Given the description of an element on the screen output the (x, y) to click on. 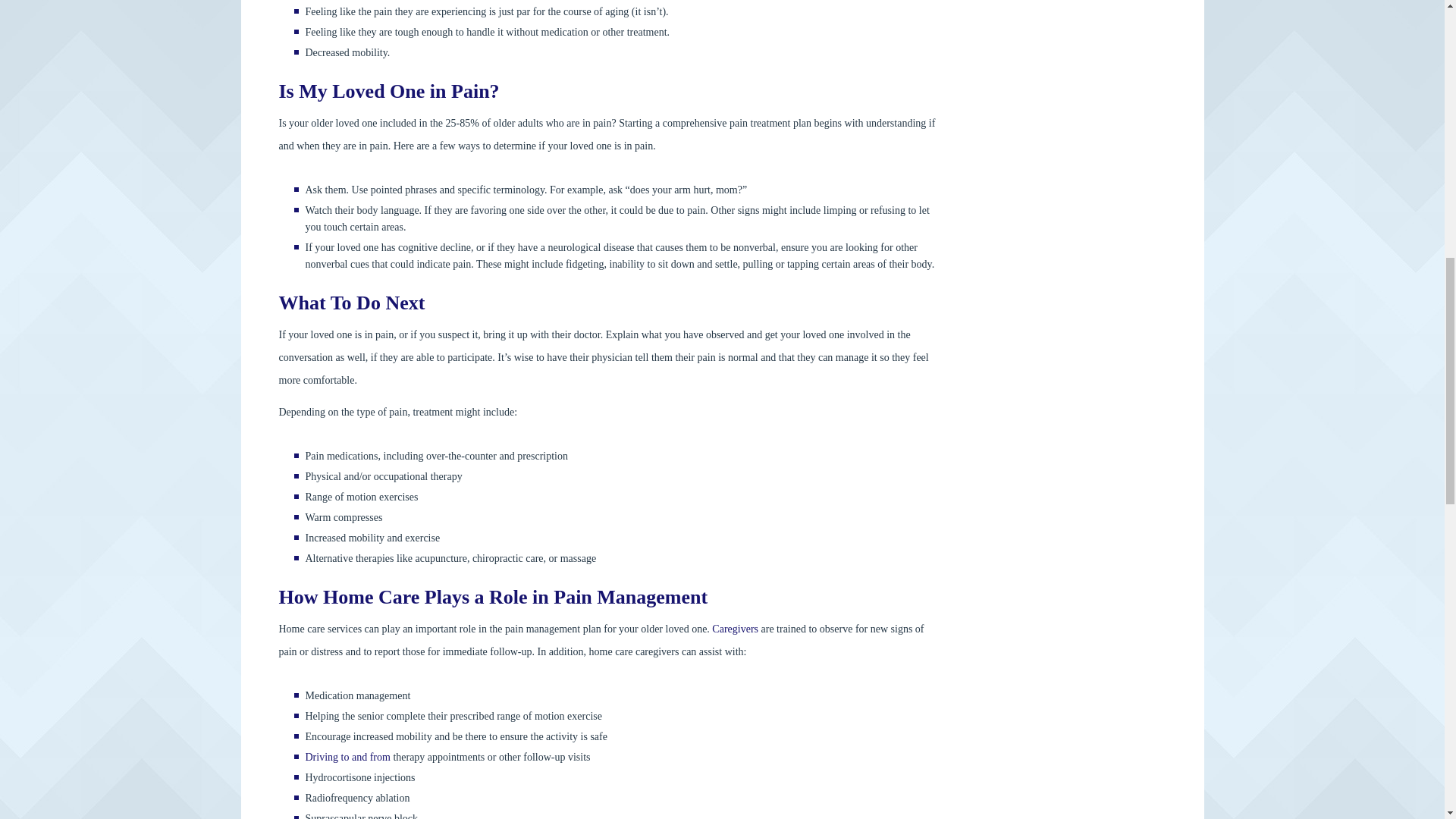
Caregivers (734, 628)
Driving to and from (347, 756)
